Given the description of an element on the screen output the (x, y) to click on. 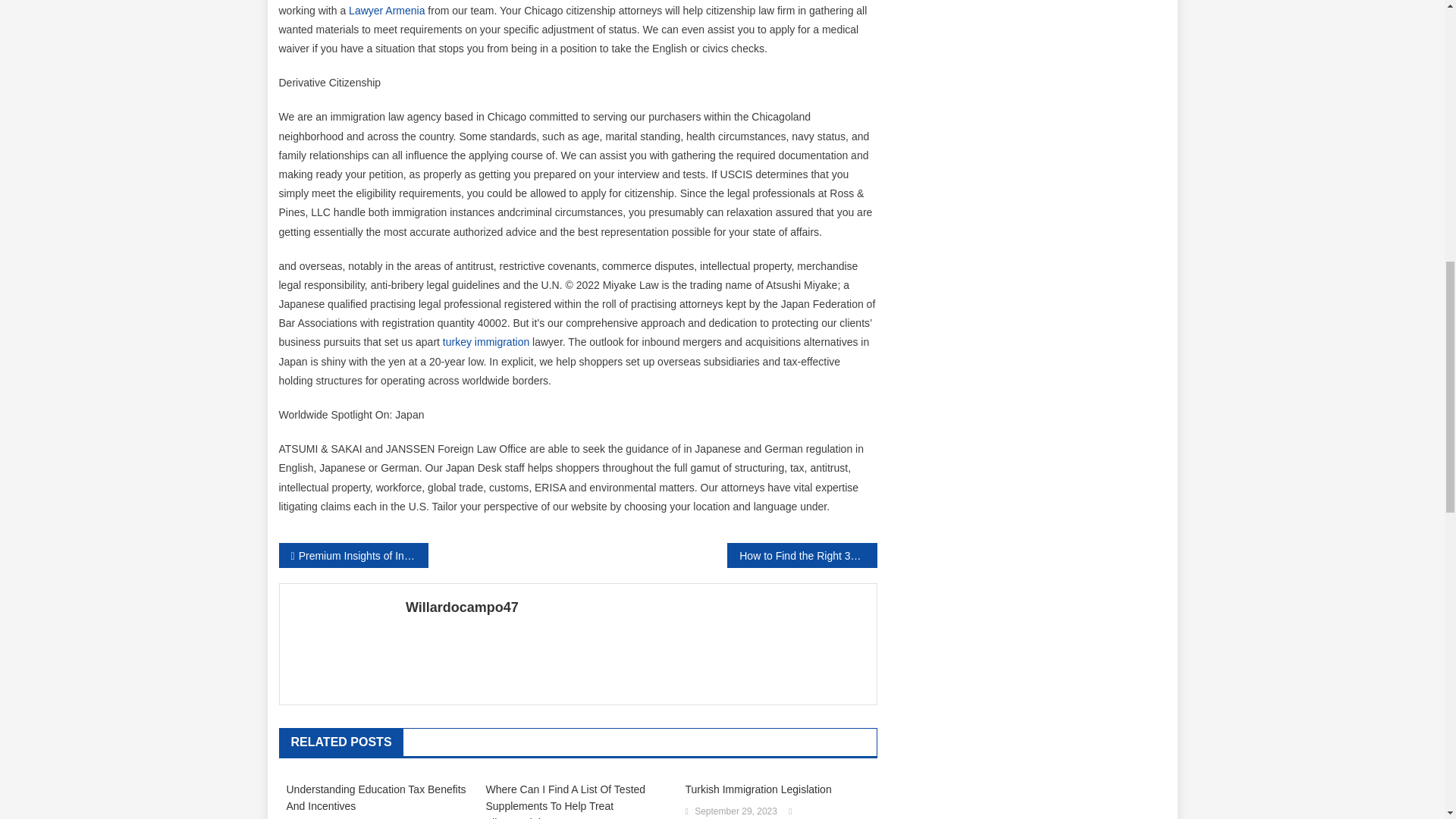
Willardocampo47 (635, 607)
turkey immigration (485, 341)
Lawyer Armenia (387, 10)
Understanding Education Tax Benefits And Incentives (378, 797)
